Given the description of an element on the screen output the (x, y) to click on. 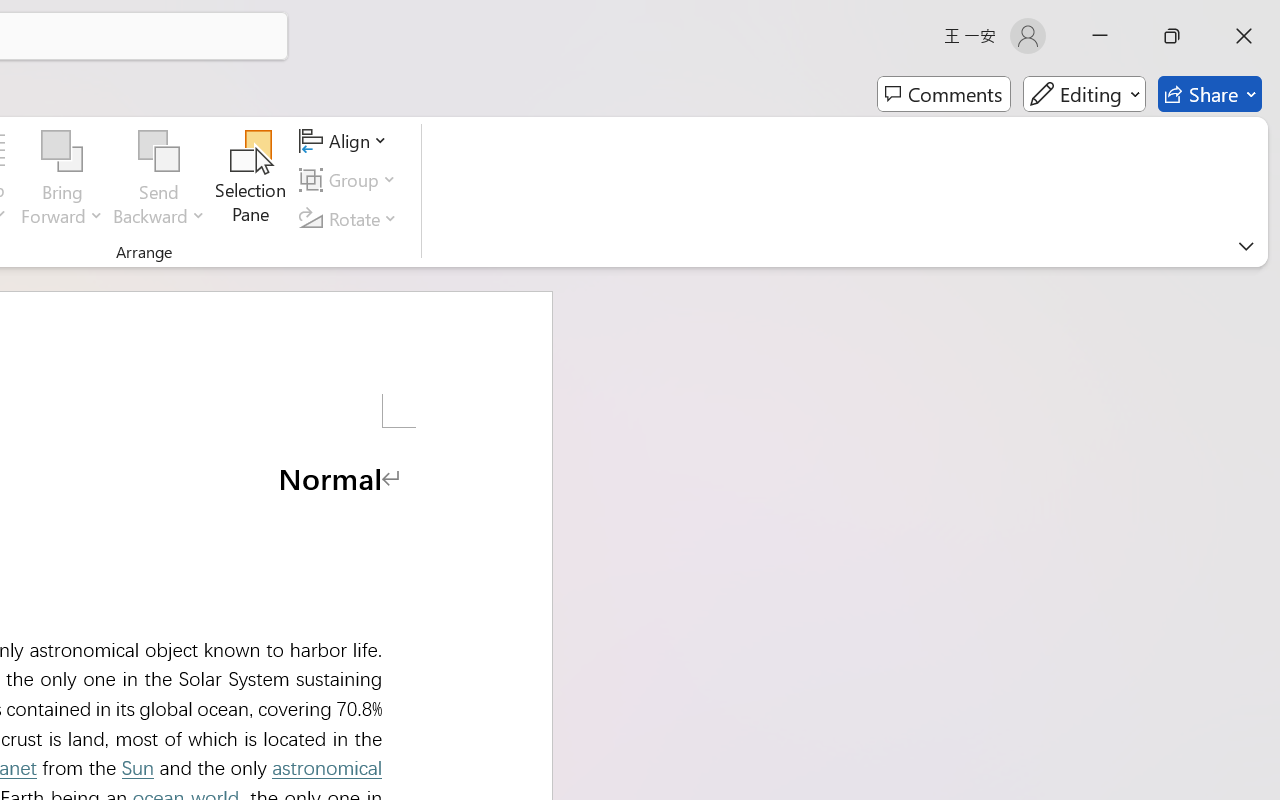
Bring Forward (62, 151)
Bring Forward (62, 179)
Send Backward (159, 151)
Selection Pane... (251, 179)
Sun (137, 768)
Rotate (351, 218)
Align (346, 141)
